Given the description of an element on the screen output the (x, y) to click on. 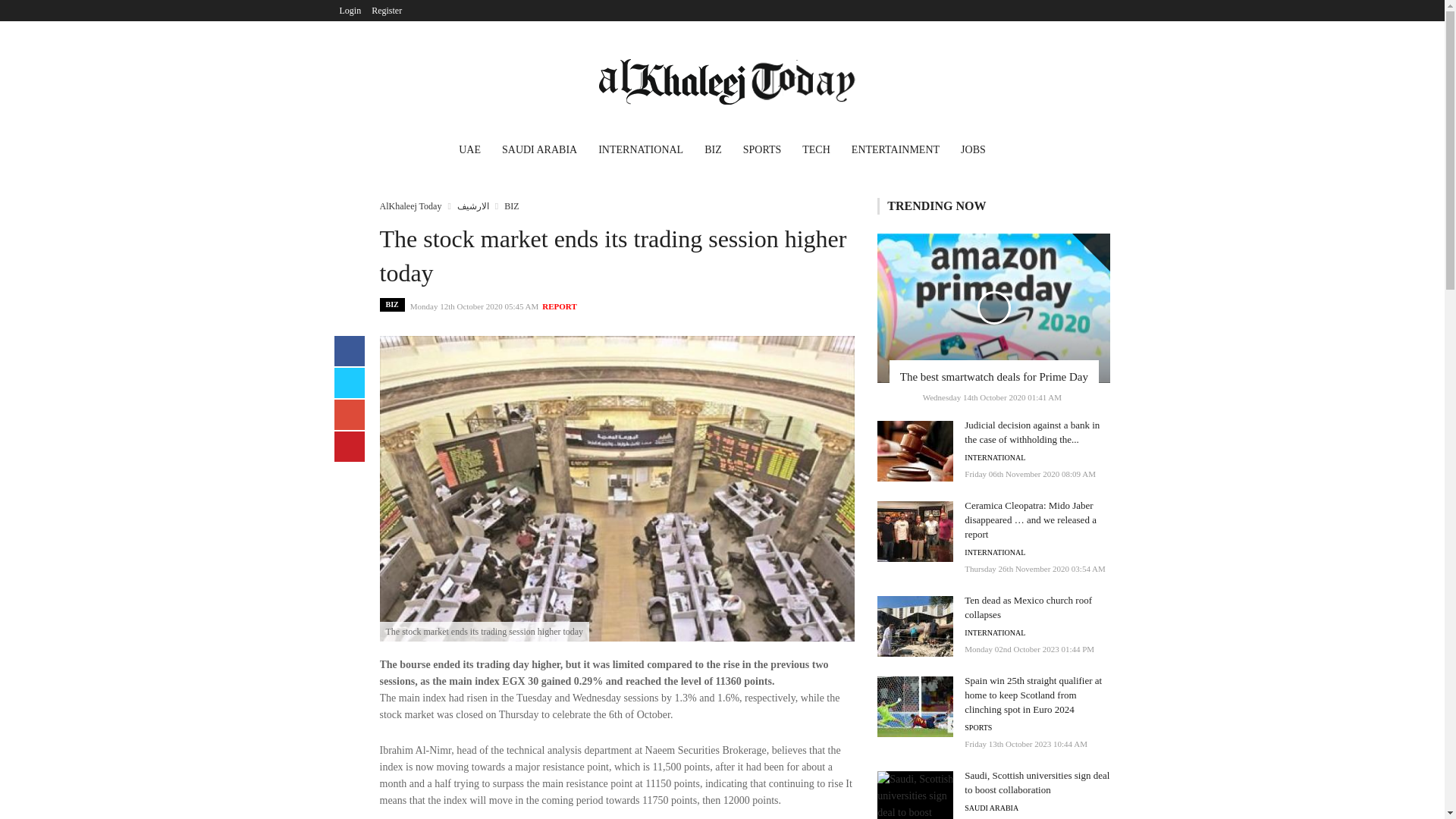
The best smartwatch deals for Prime Day (993, 377)
The stock market ends its trading session higher today (616, 487)
BIZ (510, 205)
INTERNATIONAL (994, 457)
REPORT (558, 306)
Login (349, 10)
TECH (816, 151)
SPORTS (762, 151)
AlKhaleej Today (409, 205)
ENTERTAINMENT (895, 151)
BIZ (713, 151)
UAE (470, 151)
SAUDI ARABIA (540, 151)
INTERNATIONAL (641, 151)
